Given the description of an element on the screen output the (x, y) to click on. 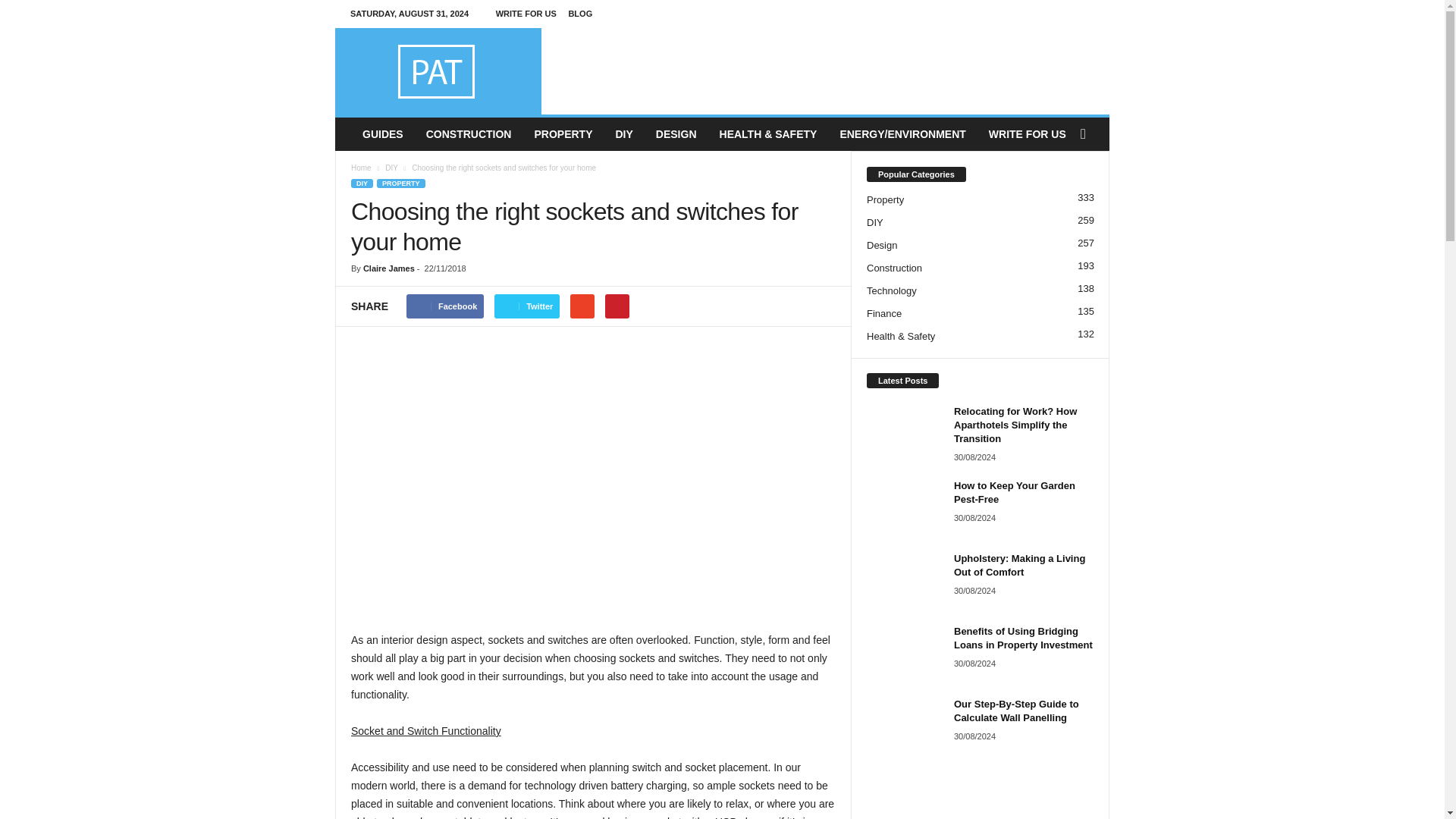
Relocating for Work? How Aparthotels Simplify the Transition (904, 432)
View all posts in DIY (391, 167)
PAT Testing (438, 70)
WRITE FOR US (526, 13)
GUIDES (382, 133)
BLOG (579, 13)
PAT Testing (437, 70)
